Given the description of an element on the screen output the (x, y) to click on. 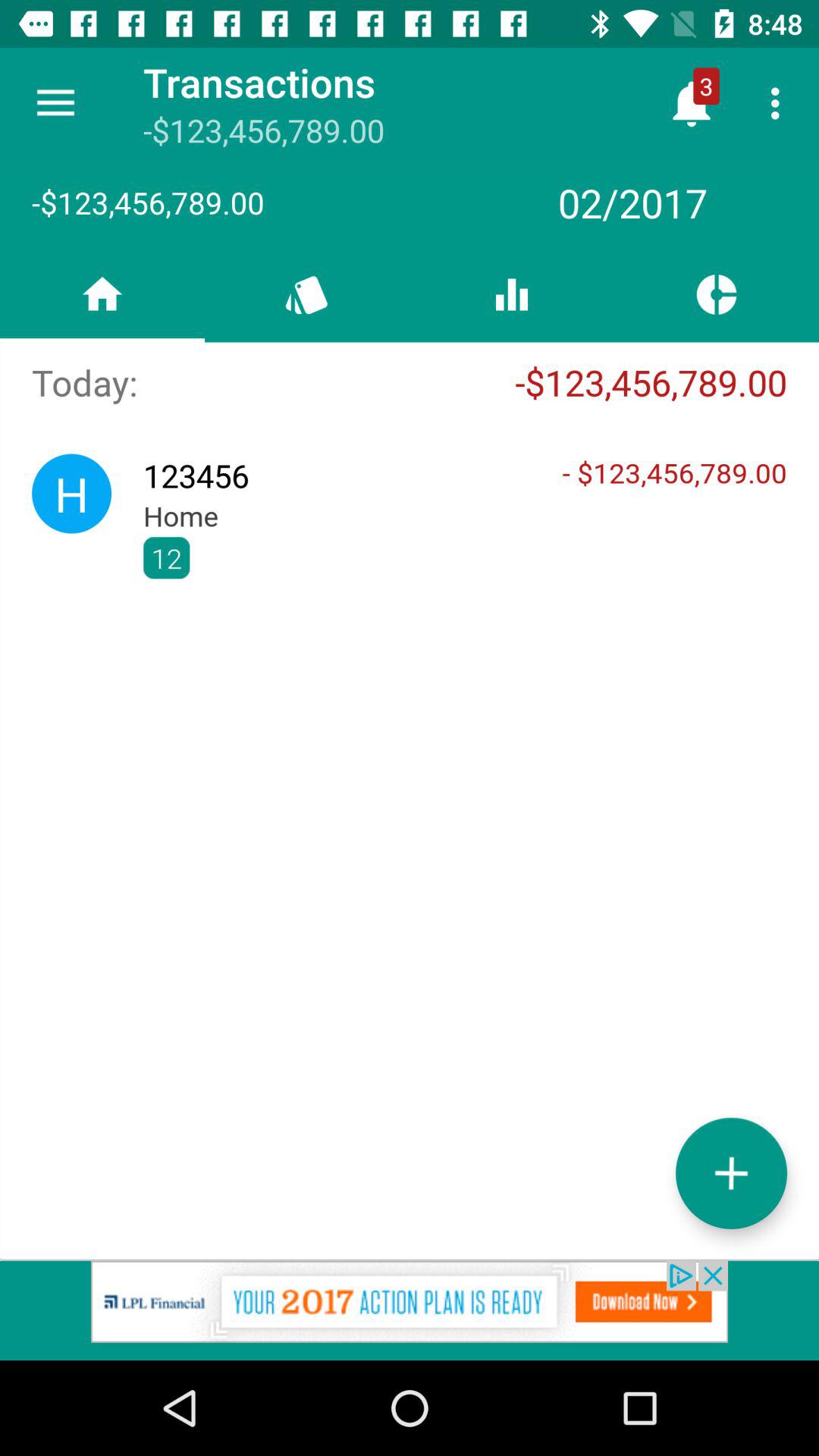
jump until the ,,  icon (465, 557)
